Given the description of an element on the screen output the (x, y) to click on. 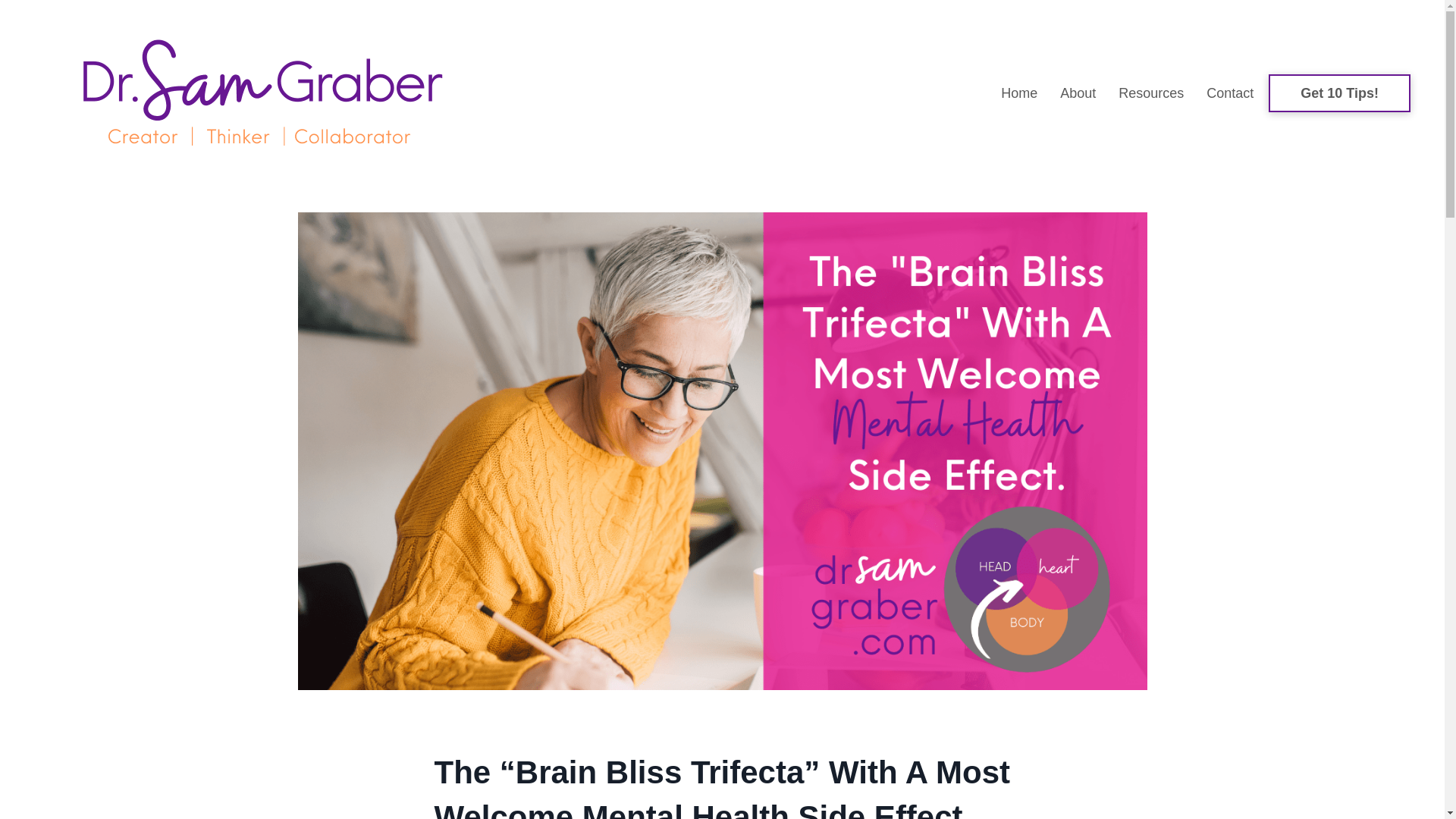
Home (1018, 92)
Resources (1150, 92)
Dr Sam Graber Logo (261, 92)
Get 10 Tips! (1339, 93)
Contact (1229, 92)
About (1077, 92)
